Given the description of an element on the screen output the (x, y) to click on. 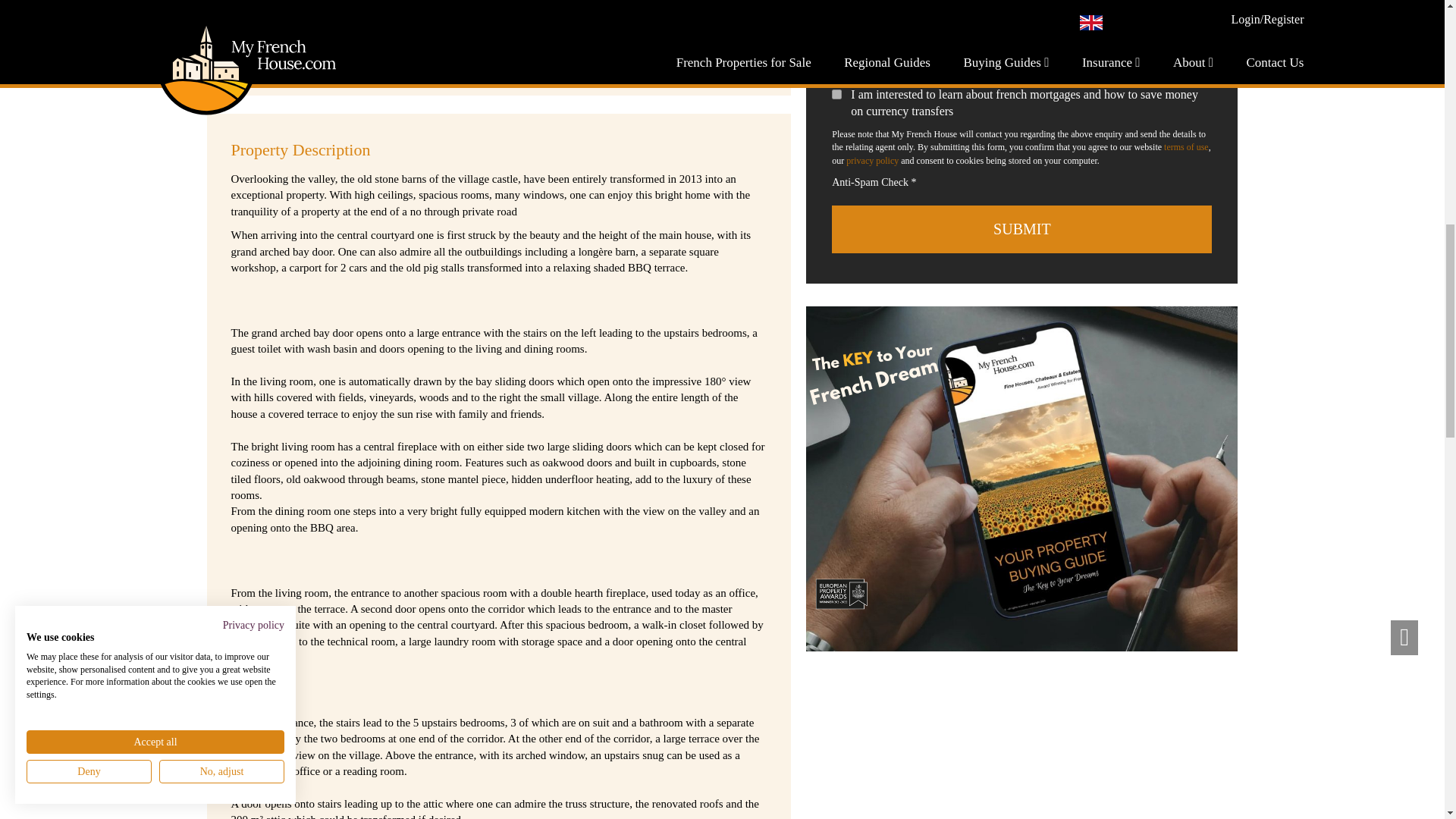
Property Page (1021, 477)
Yes (836, 51)
Yes (836, 94)
